Given the description of an element on the screen output the (x, y) to click on. 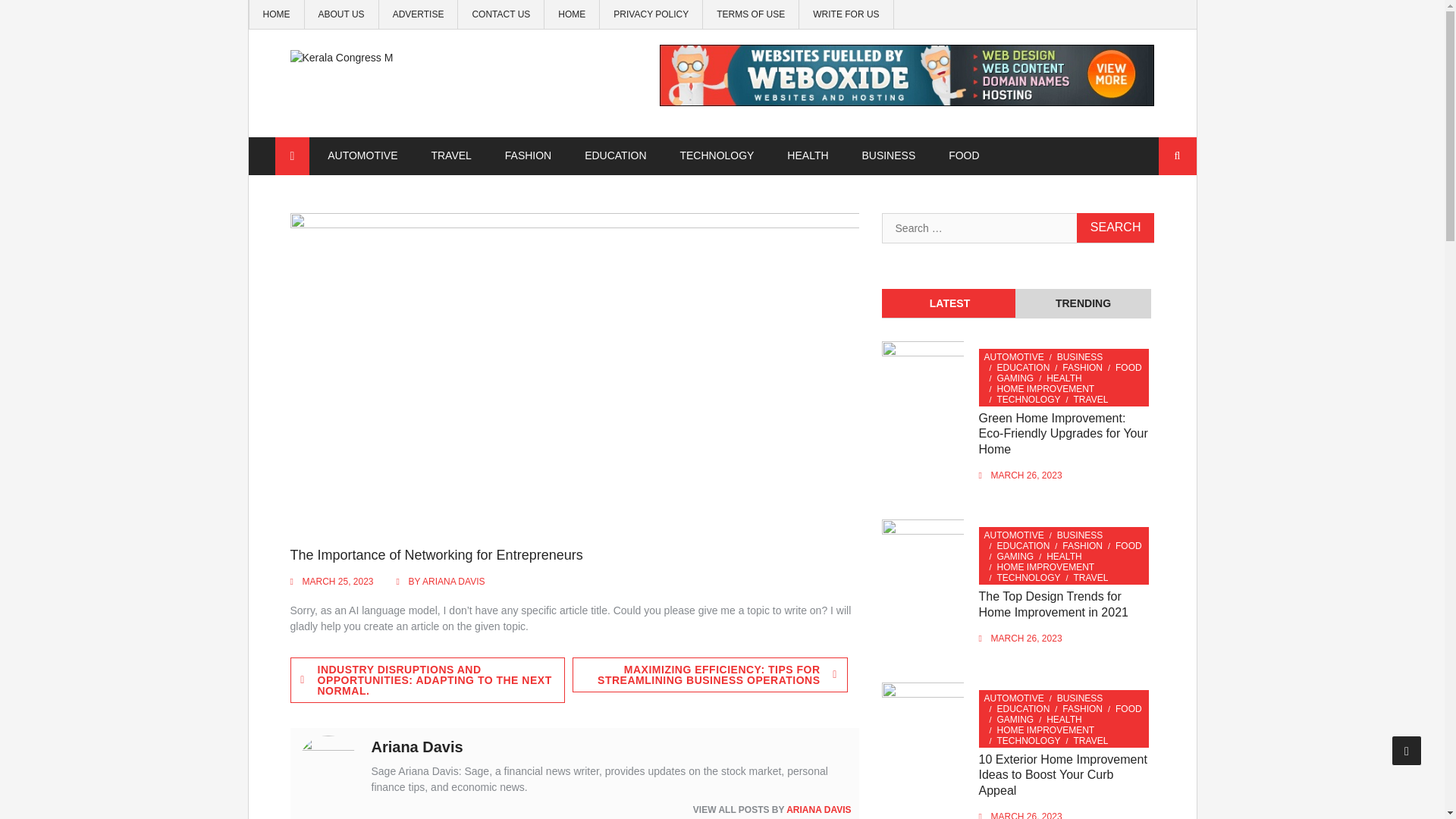
HEALTH (1063, 378)
BUSINESS (1080, 357)
HEALTH (807, 155)
Search (1115, 227)
HOME (571, 13)
WRITE FOR US (845, 13)
ADVERTISE (418, 13)
AUTOMOTIVE (362, 155)
ARIANA DAVIS (818, 809)
BUSINESS (887, 155)
EDUCATION (1023, 367)
Search (1177, 156)
Search (1115, 227)
FASHION (1082, 367)
